Given the description of an element on the screen output the (x, y) to click on. 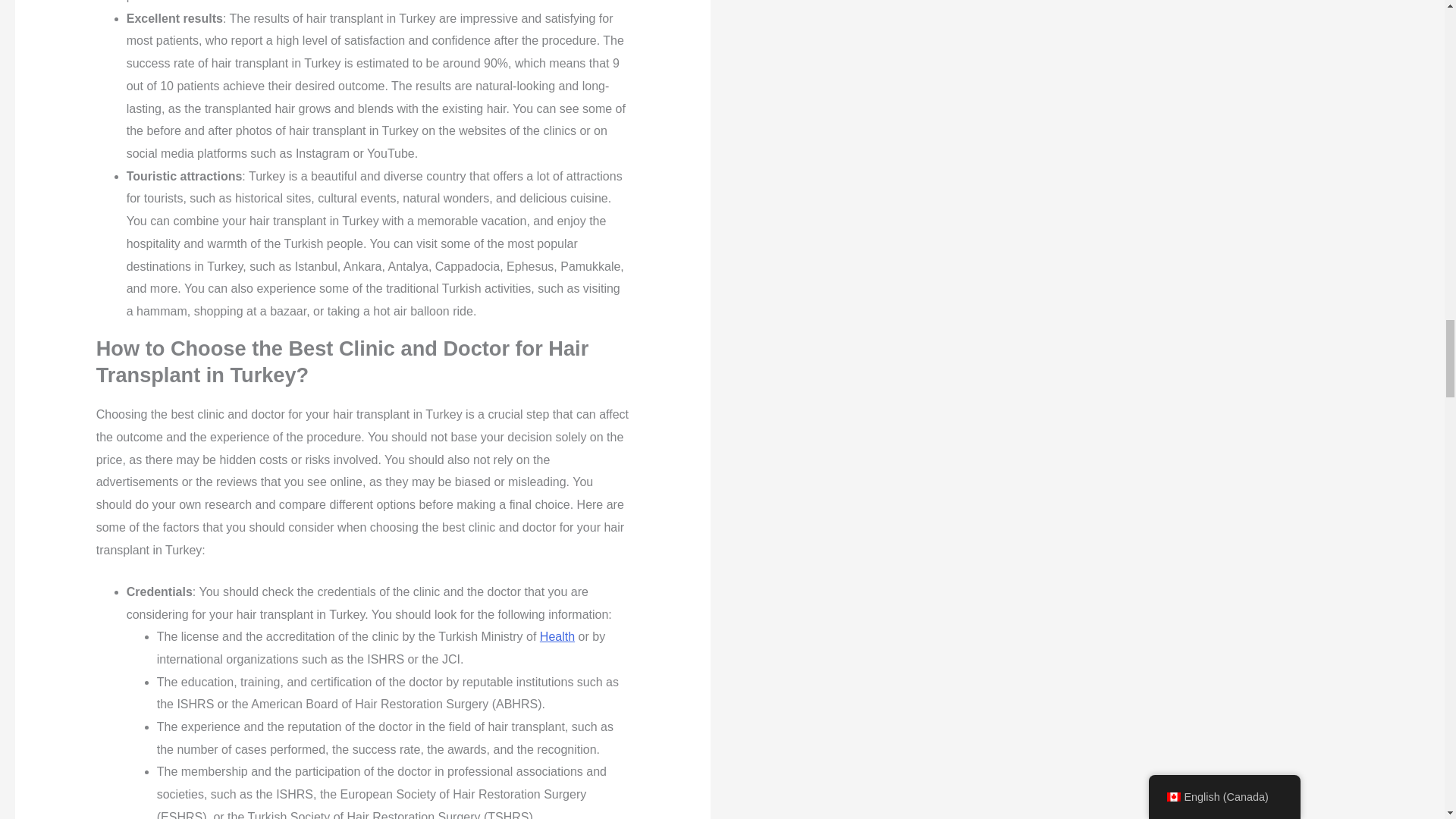
Health (557, 635)
